Given the description of an element on the screen output the (x, y) to click on. 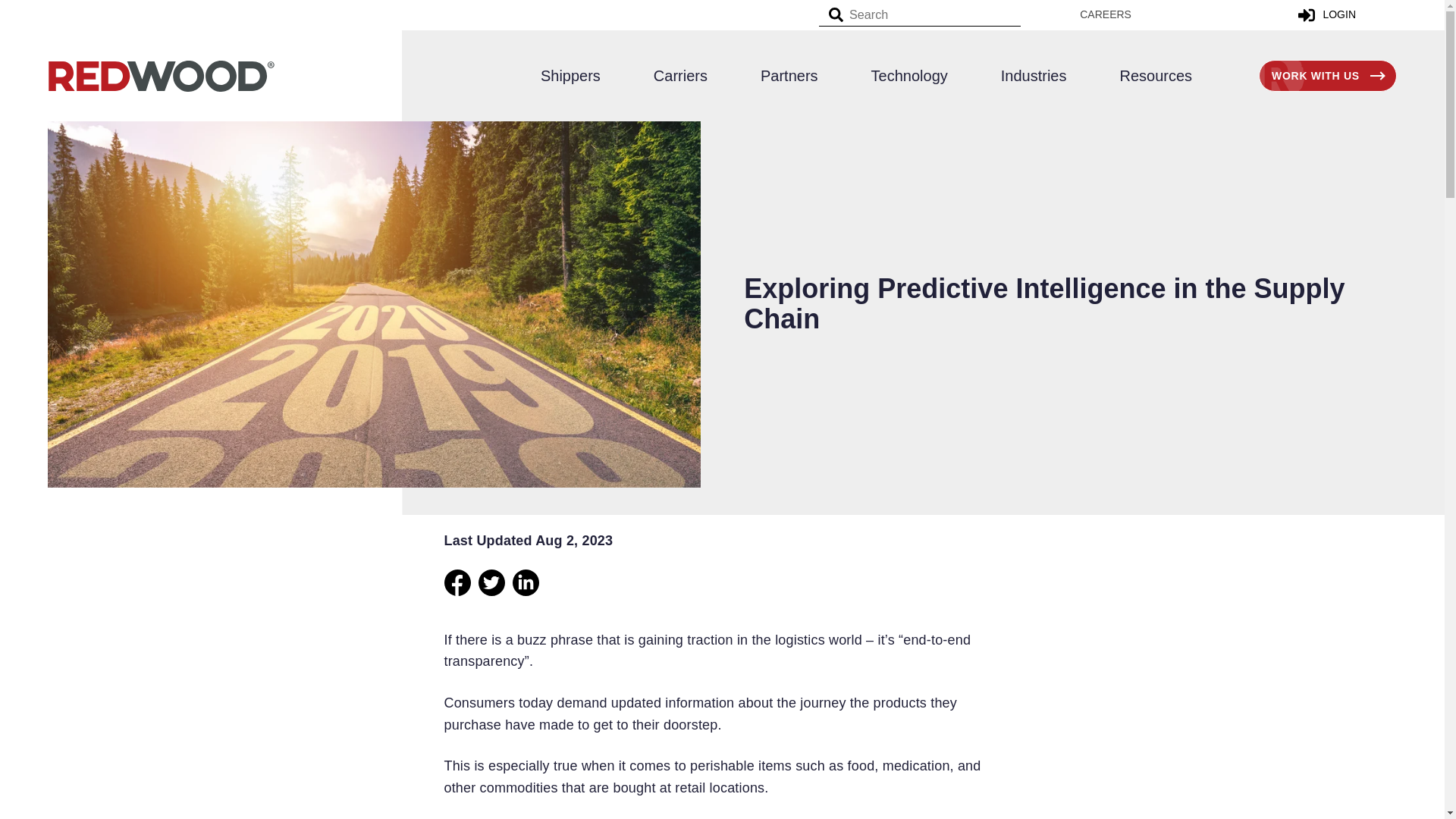
Carriers (680, 75)
Shippers (583, 75)
Technology (909, 75)
Partners (788, 75)
Resources (1142, 75)
